Given the description of an element on the screen output the (x, y) to click on. 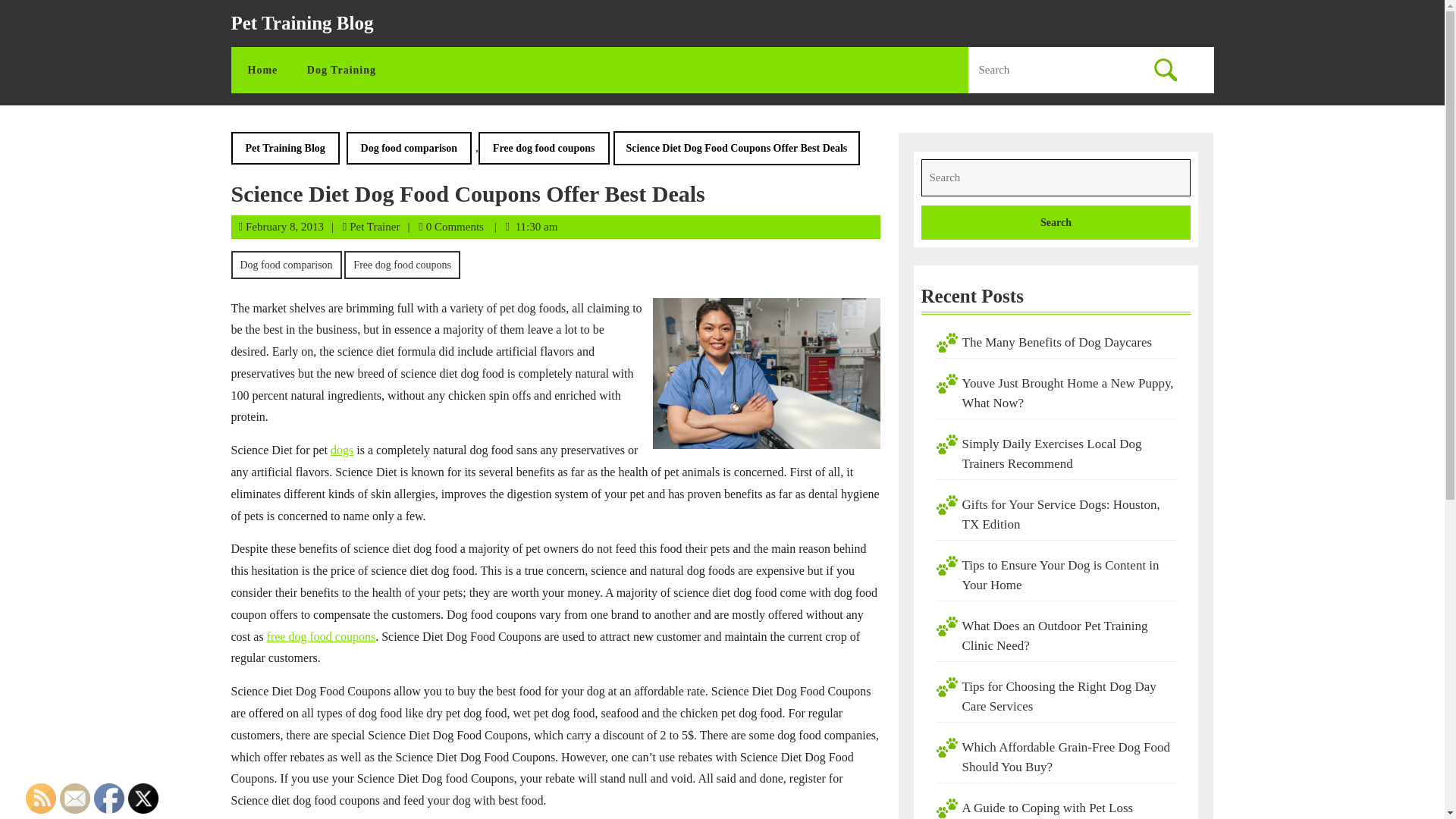
Search (1165, 69)
Dog food comparison, Dogs (320, 635)
Which Affordable Grain-Free Dog Food Should You Buy? (1064, 756)
Dog food comparison (408, 147)
Dog food comparison (285, 264)
What Does an Outdoor Pet Training Clinic Need? (1053, 635)
Follow by Email (74, 797)
Search (1055, 222)
Search (1055, 222)
